Given the description of an element on the screen output the (x, y) to click on. 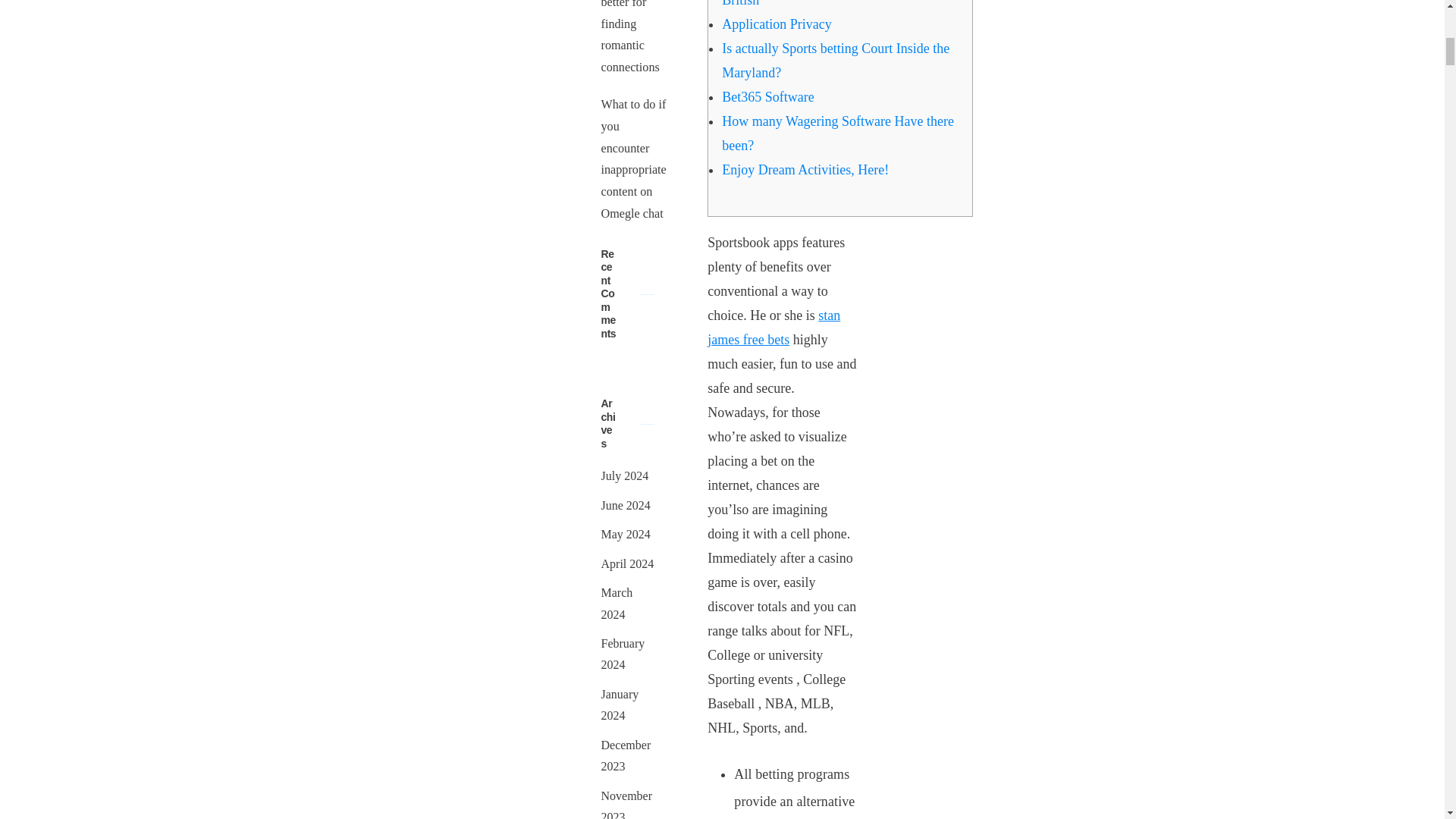
Enjoy Dream Activities, Here! (805, 169)
Bet365 Software (767, 96)
How many Wagering Software Have there been? (837, 133)
Is actually Sports betting Court Inside the Maryland? (835, 60)
Application Privacy (776, 23)
stan james free bets (773, 327)
Better Android os Playing Programs British (821, 3)
